Given the description of an element on the screen output the (x, y) to click on. 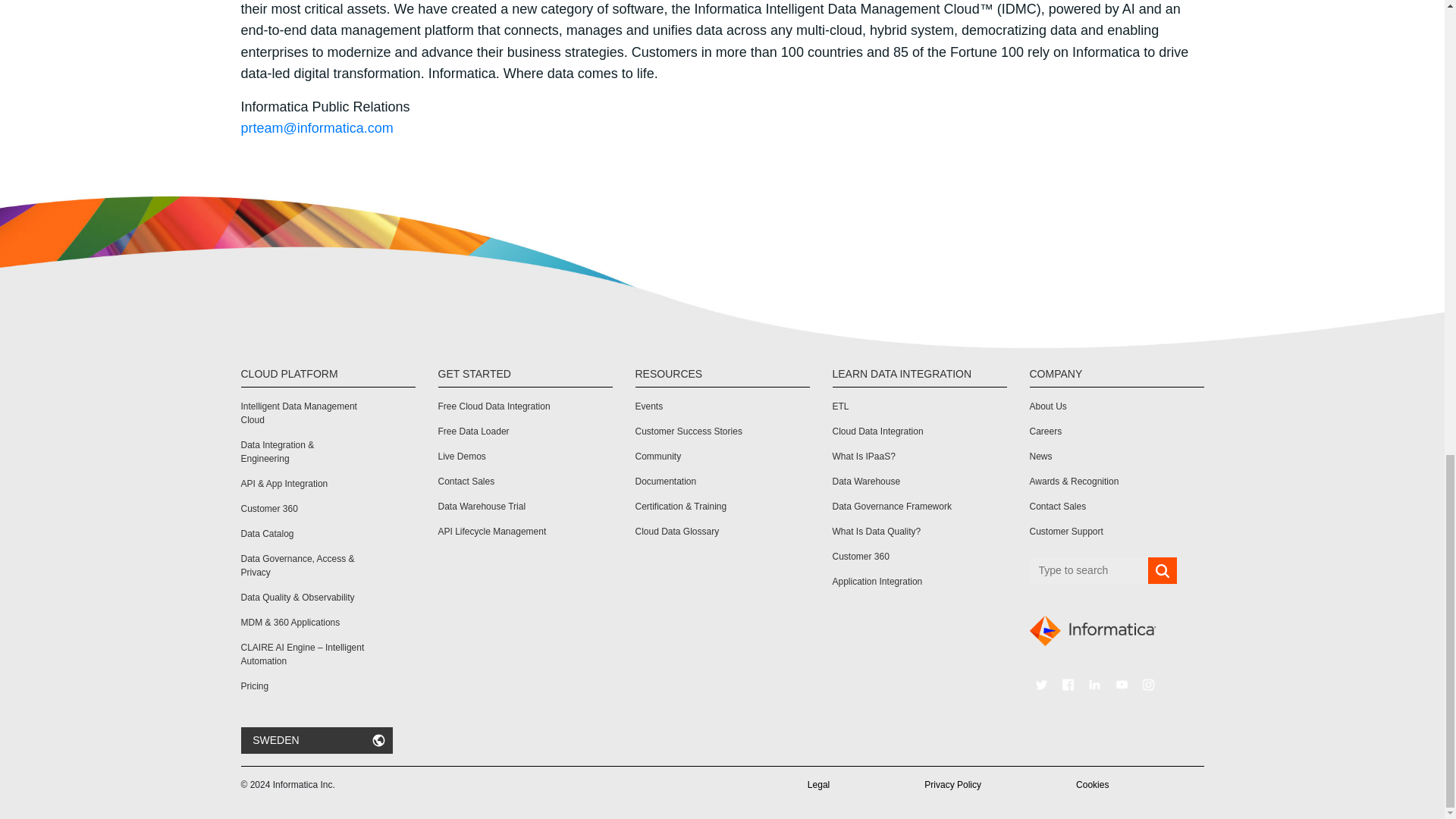
Search (1162, 571)
Insert a query. Press enter to send (1088, 570)
